Given the description of an element on the screen output the (x, y) to click on. 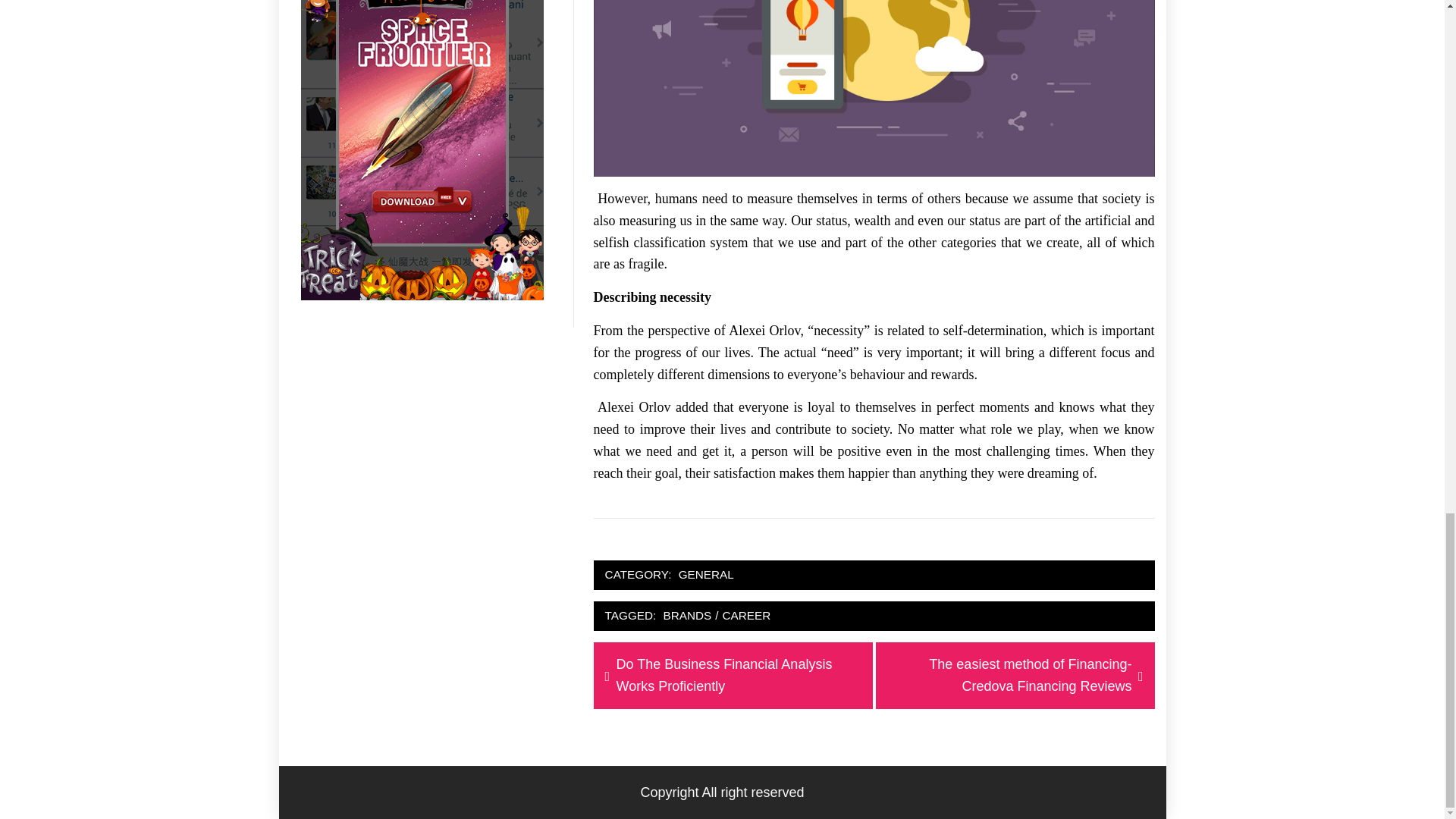
GENERAL (706, 575)
CAREER (746, 616)
BRANDS (687, 616)
